Given the description of an element on the screen output the (x, y) to click on. 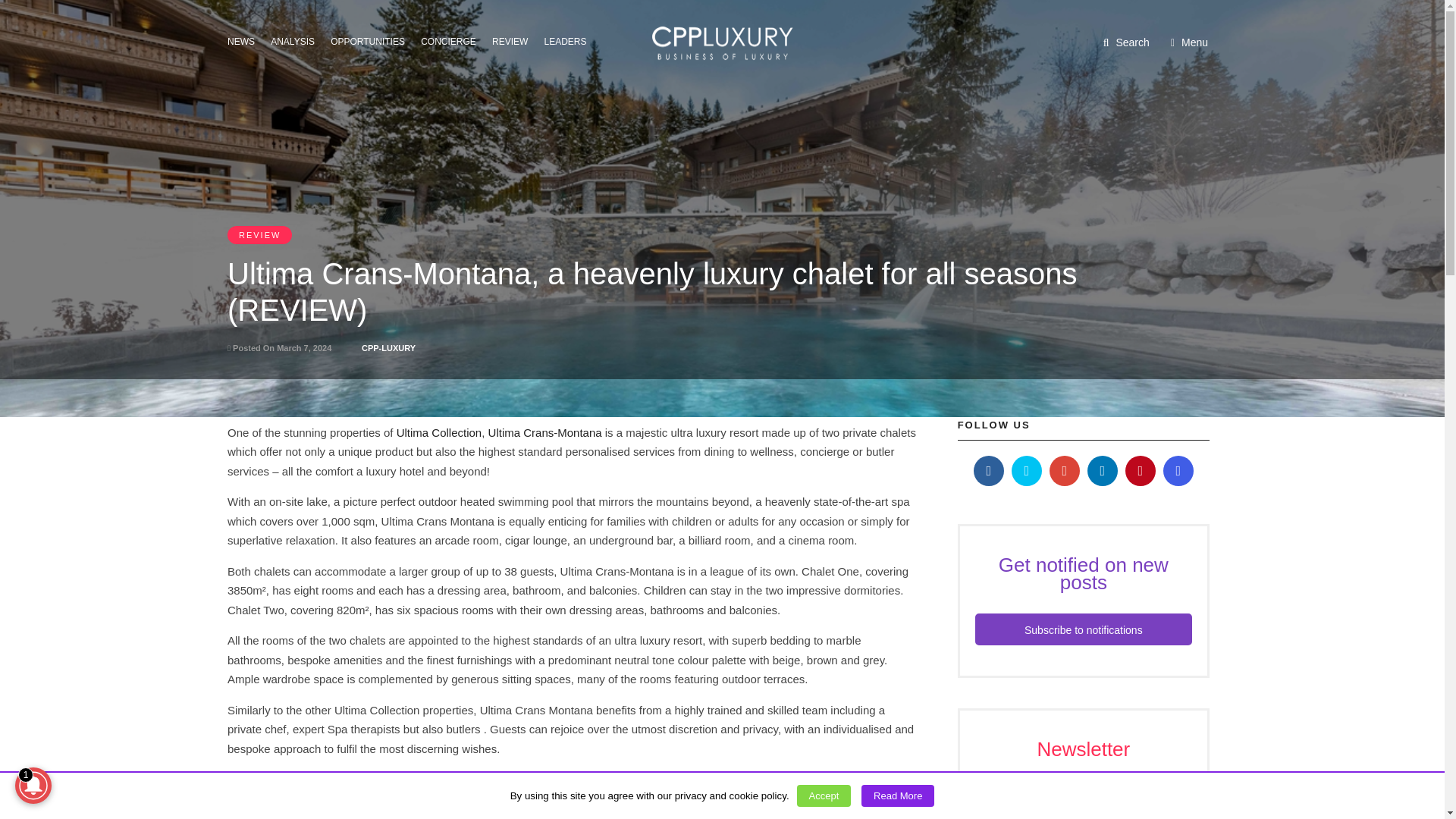
LEADERS (569, 40)
Facebook (989, 470)
Linkedin (1102, 470)
Instagram (1178, 470)
CPP-LUXURY (387, 347)
CONCIERGE (452, 40)
REVIEW (514, 40)
OPPORTUNITIES (371, 40)
Twitter (1026, 470)
NEWS (245, 40)
ANALYSIS (296, 40)
Ultima Collection (438, 431)
Ultima Crans-Montana (544, 431)
Pinterest (1140, 470)
Search (1126, 41)
